Given the description of an element on the screen output the (x, y) to click on. 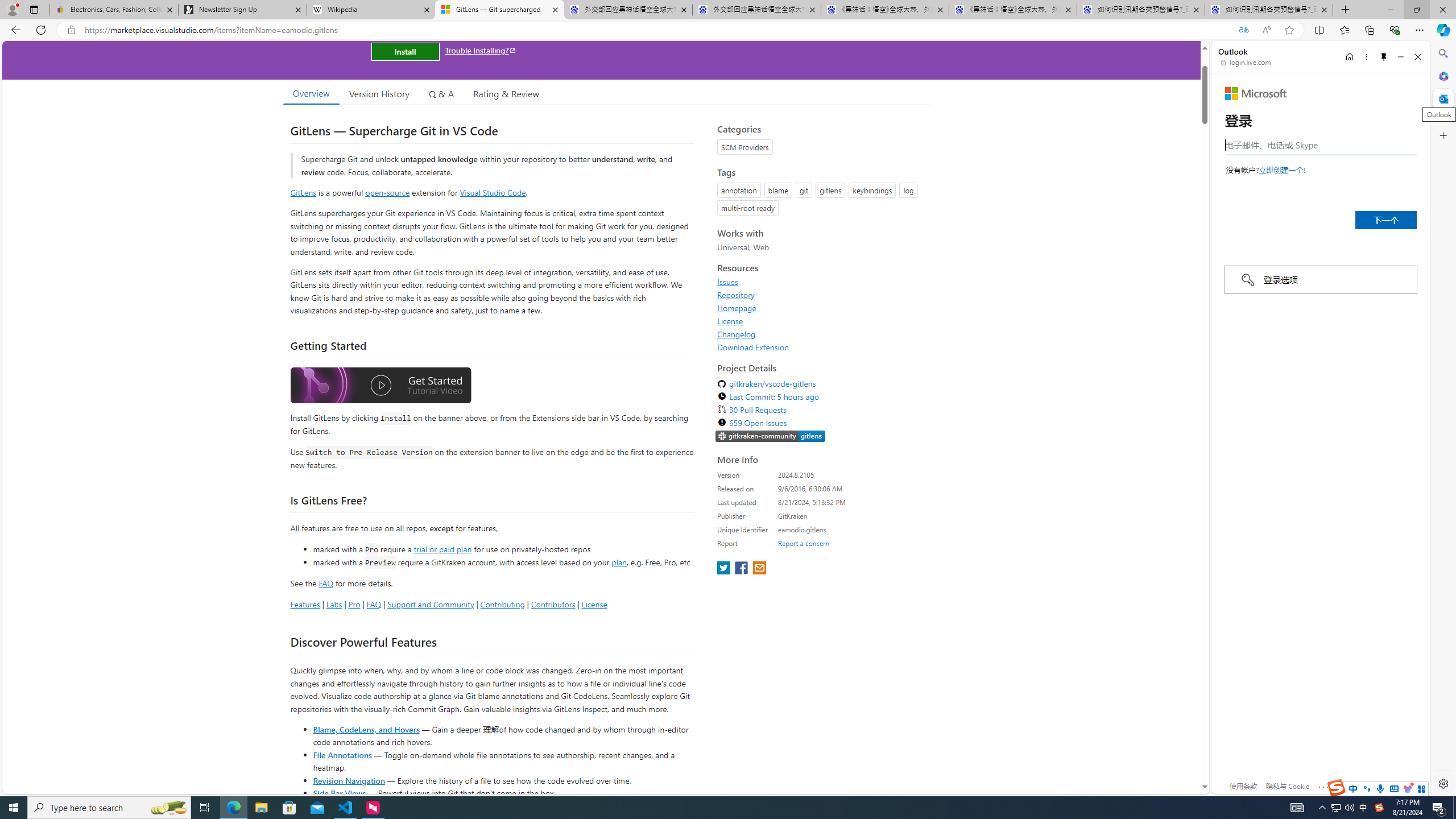
Pro (354, 603)
Homepage (820, 307)
Visual Studio Code (492, 192)
Contributors (552, 603)
GitLens (303, 192)
Changelog (736, 333)
Labs (334, 603)
